Given the description of an element on the screen output the (x, y) to click on. 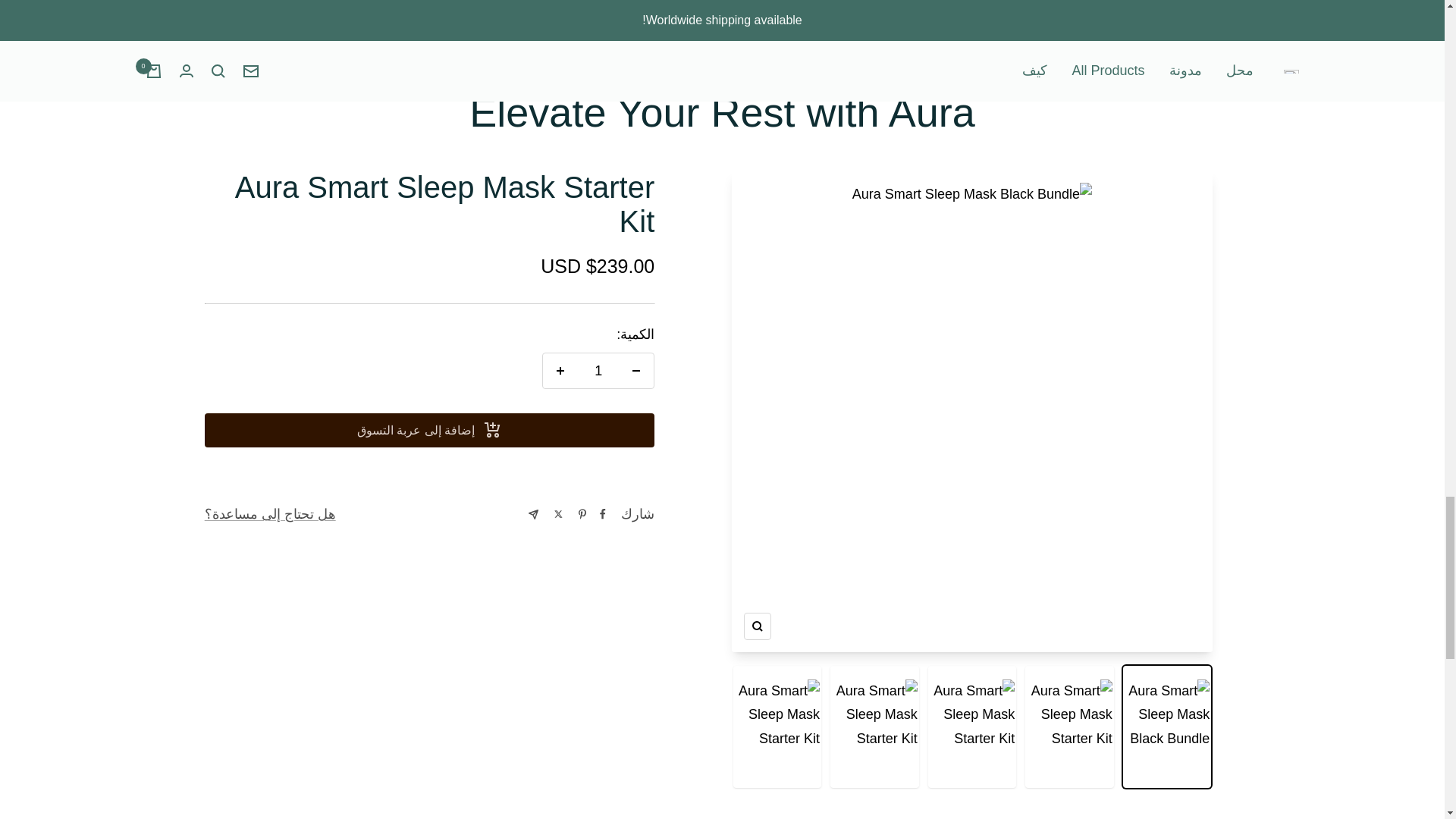
Zoom (757, 625)
1 (598, 370)
